Given the description of an element on the screen output the (x, y) to click on. 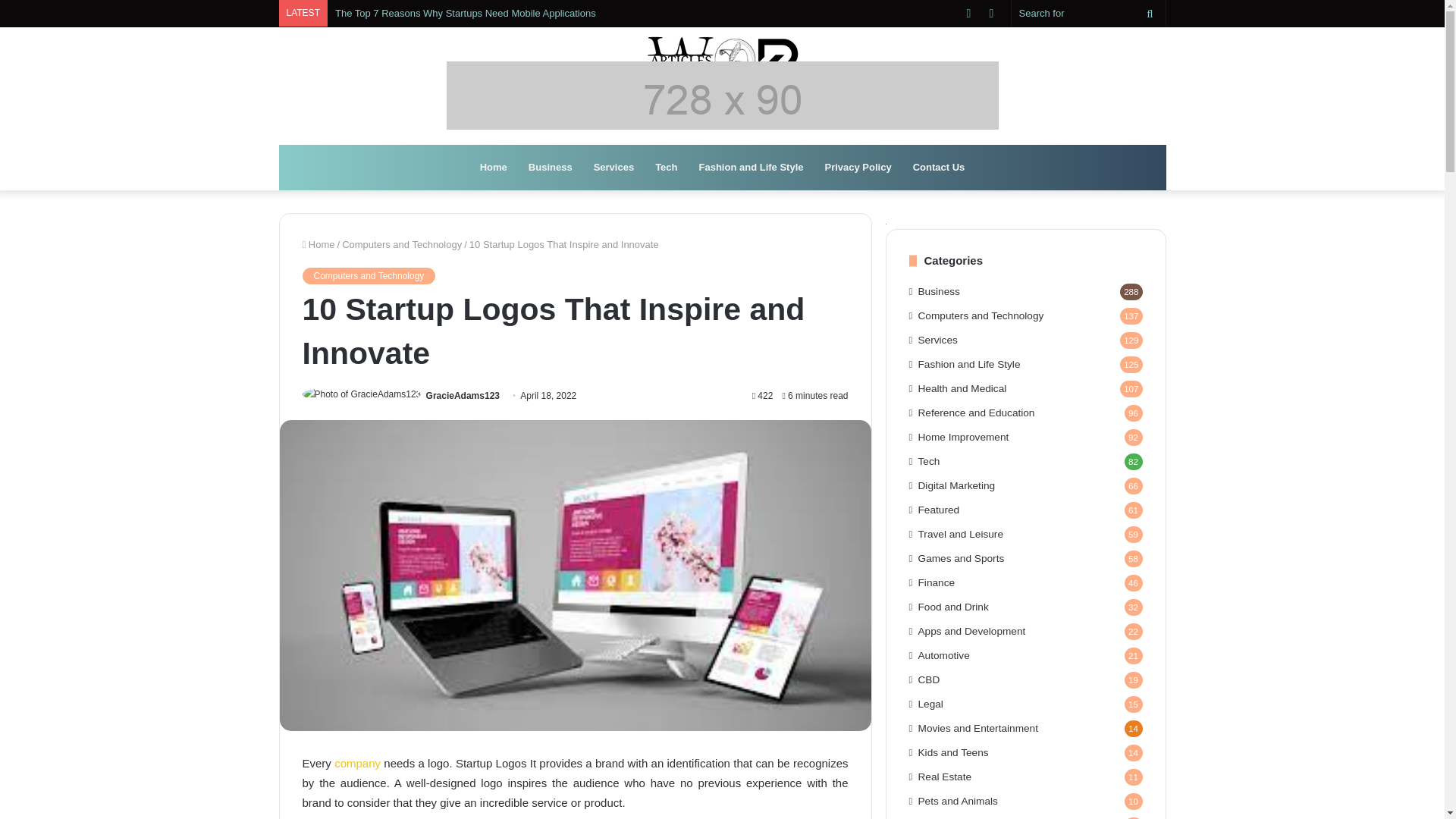
Articles Work (721, 59)
Contact Us (938, 167)
Services (614, 167)
Fashion and Life Style (750, 167)
The Top 7 Reasons Why Startups Need Mobile Applications  (466, 12)
Home (493, 167)
GracieAdams123 (462, 395)
Privacy Policy (857, 167)
Home (317, 244)
Computers and Technology (368, 275)
Tech (666, 167)
Search for (1149, 13)
company (357, 762)
GracieAdams123 (462, 395)
Computers and Technology (401, 244)
